Given the description of an element on the screen output the (x, y) to click on. 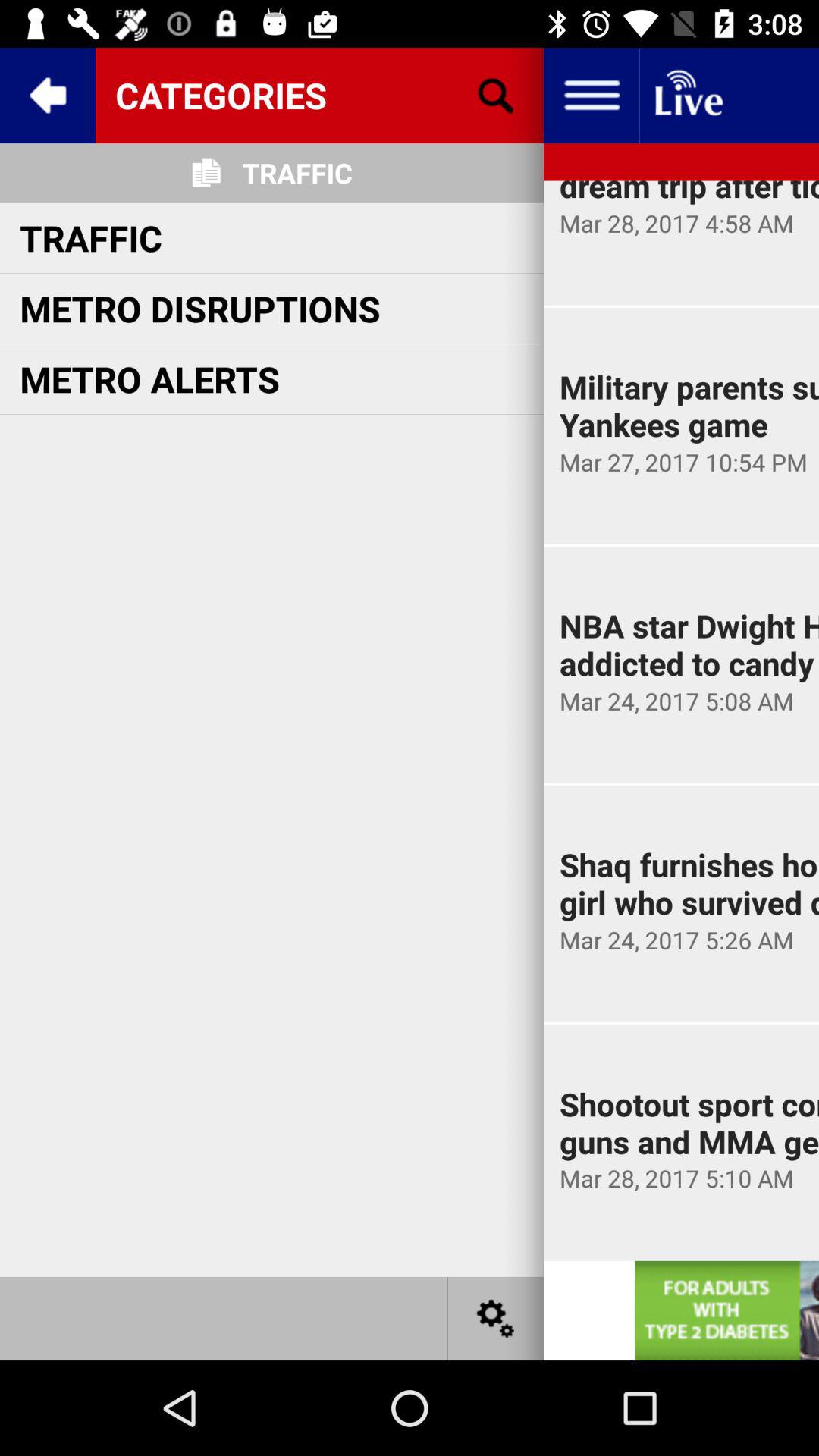
close the open menu (47, 95)
